Given the description of an element on the screen output the (x, y) to click on. 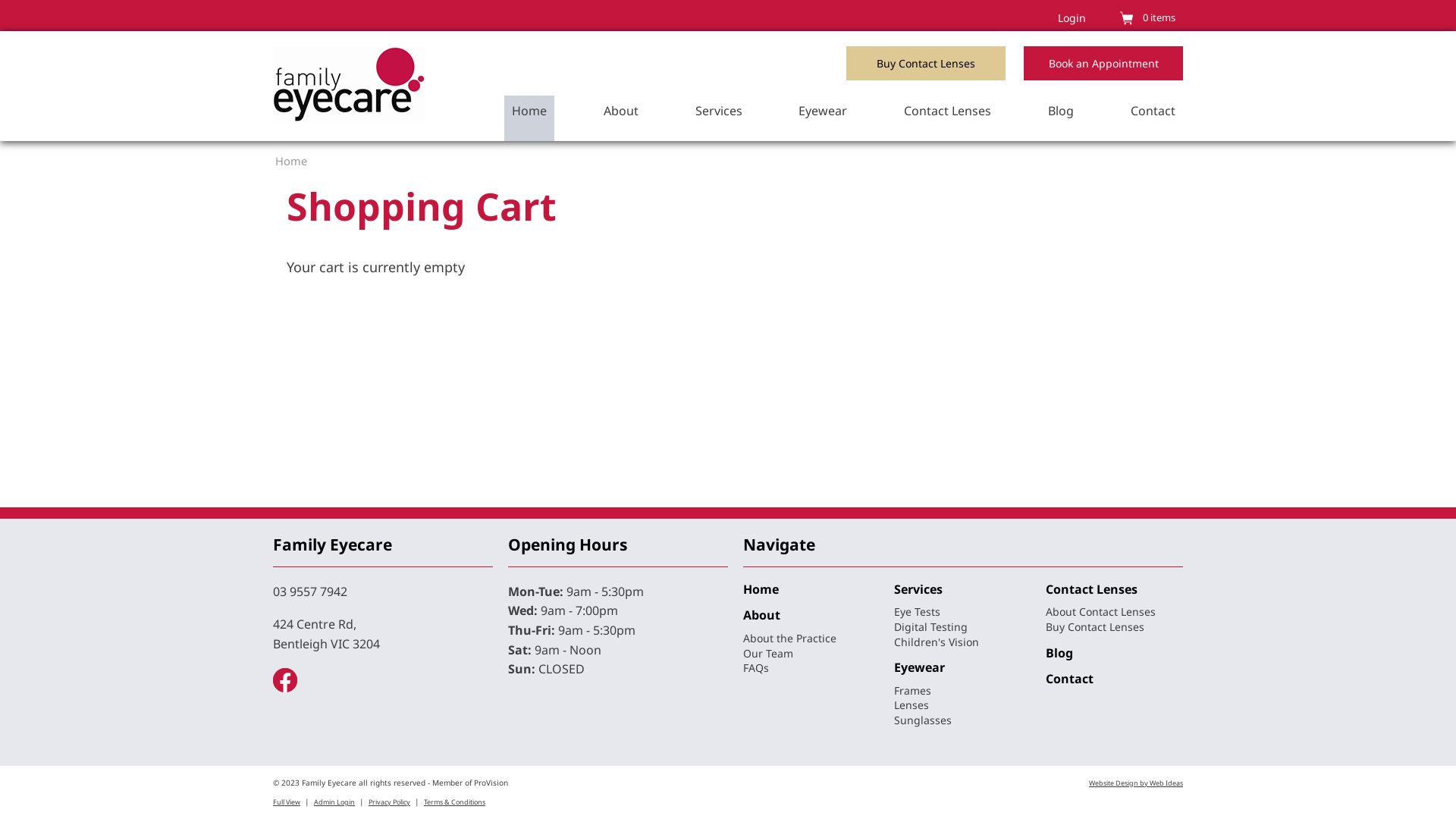
Frames Element type: text (912, 690)
0 items Element type: text (1158, 17)
FAQs Element type: text (755, 667)
Privacy Policy Element type: text (389, 801)
Home Element type: text (291, 160)
Lenses Element type: text (911, 704)
Digital Testing Element type: text (930, 626)
Contact Element type: text (1153, 118)
Blog Element type: text (1060, 118)
Eyewear Element type: text (919, 666)
Blog Element type: text (1059, 652)
About Element type: text (761, 614)
About Contact Lenses Element type: text (1100, 611)
Contact Element type: text (1069, 678)
Book an Appointment Element type: text (1103, 63)
About Element type: text (621, 118)
Services Element type: text (718, 118)
Full View Element type: text (286, 801)
Terms & Conditions Element type: text (454, 801)
Eye Tests Element type: text (917, 611)
Buy Contact Lenses Element type: text (925, 63)
Login Element type: text (1071, 18)
Home Element type: text (760, 588)
Contact Lenses Element type: text (1091, 588)
Home Element type: text (529, 118)
Buy Contact Lenses Element type: text (1094, 626)
03 9557 7942 Element type: text (310, 591)
Children's Vision Element type: text (936, 641)
Contact Lenses Element type: text (947, 118)
Services Element type: text (918, 588)
Sunglasses Element type: text (922, 719)
Our Team Element type: text (768, 653)
Eyewear Element type: text (822, 118)
Website Design by Web Ideas Element type: text (1135, 782)
About the Practice Element type: text (789, 637)
Admin Login Element type: text (333, 801)
